Given the description of an element on the screen output the (x, y) to click on. 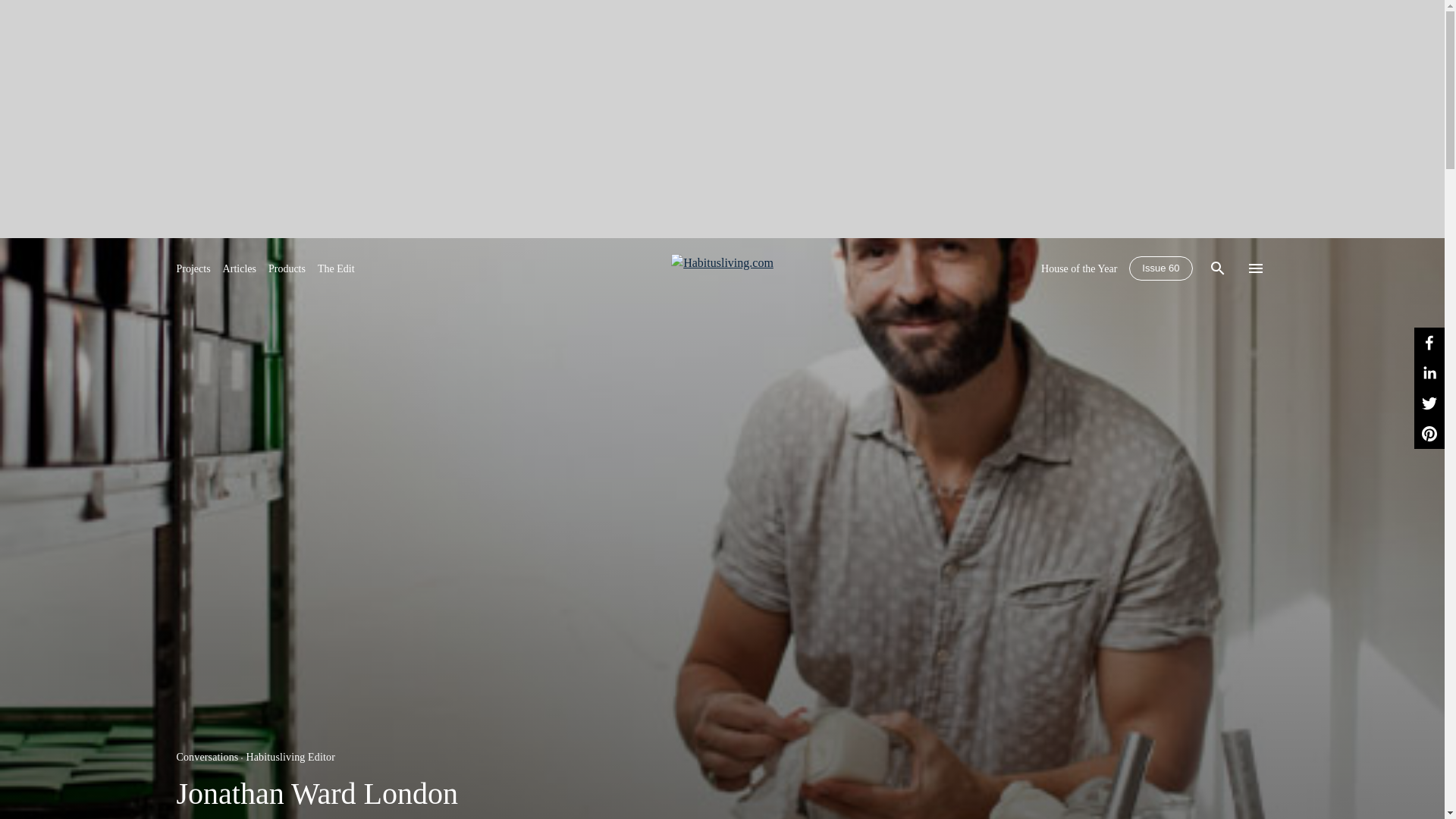
Habitusliving Editor (290, 756)
The Edit (336, 268)
Articles (239, 268)
Projects (192, 268)
Issue 60 (1160, 268)
Products (286, 268)
Conversations (207, 756)
Skip To Main Content (722, 268)
House of the Year (1078, 268)
